Given the description of an element on the screen output the (x, y) to click on. 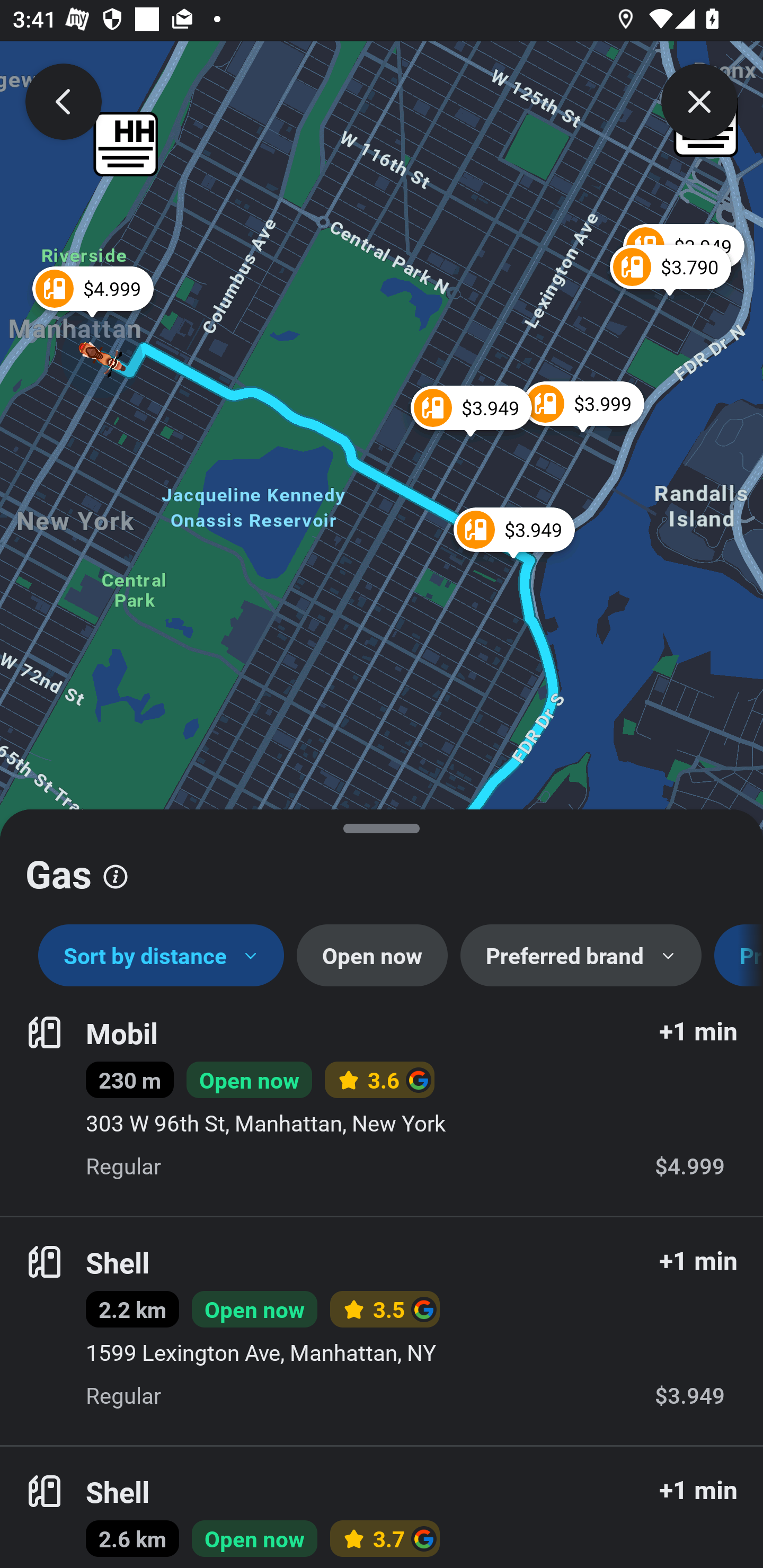
Gas (381, 867)
Sort by distance (160, 955)
Open now (371, 955)
Preferred brand (580, 955)
